Given the description of an element on the screen output the (x, y) to click on. 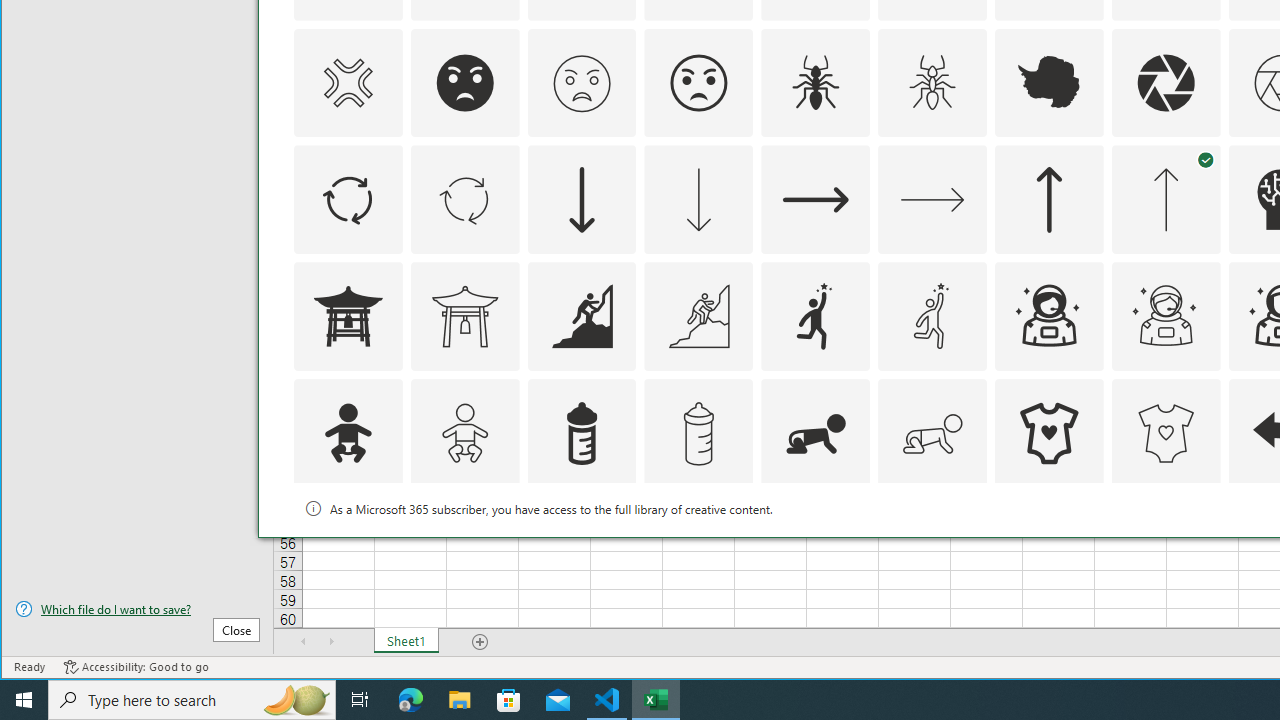
AutomationID: Icons_ArrowDown_M (698, 200)
Visual Studio Code - 1 running window (607, 699)
AutomationID: Icons_AngryFace_Outline (698, 82)
AutomationID: Icons_Baby_M (464, 434)
AutomationID: Icons_Badge10_M (348, 550)
AutomationID: Icons_BabyBottle_M (698, 434)
